Given the description of an element on the screen output the (x, y) to click on. 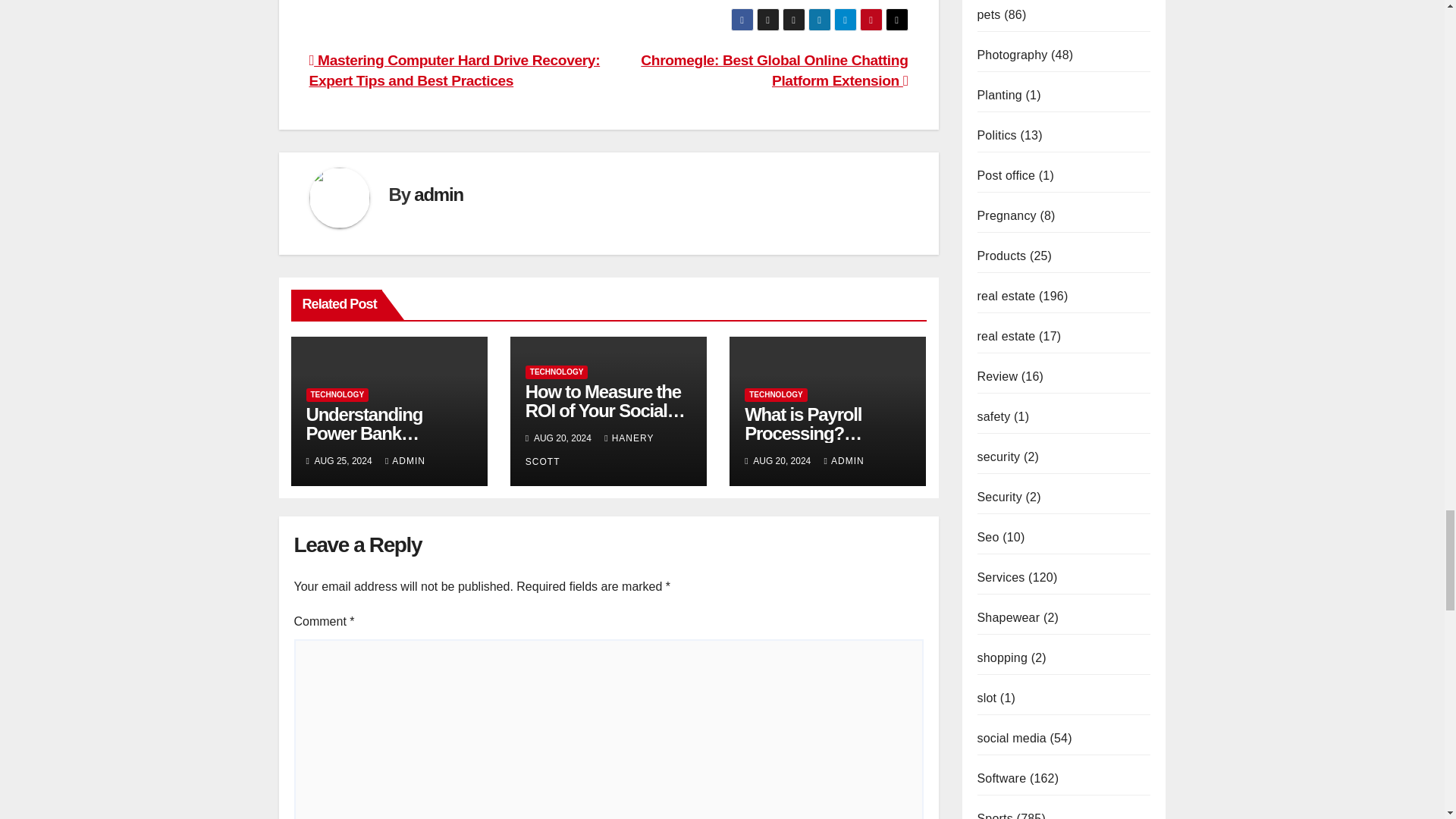
TECHNOLOGY (337, 395)
ADMIN (405, 460)
admin (438, 194)
TECHNOLOGY (556, 372)
Chromegle: Best Global Online Chatting Platform Extension (773, 70)
